Given the description of an element on the screen output the (x, y) to click on. 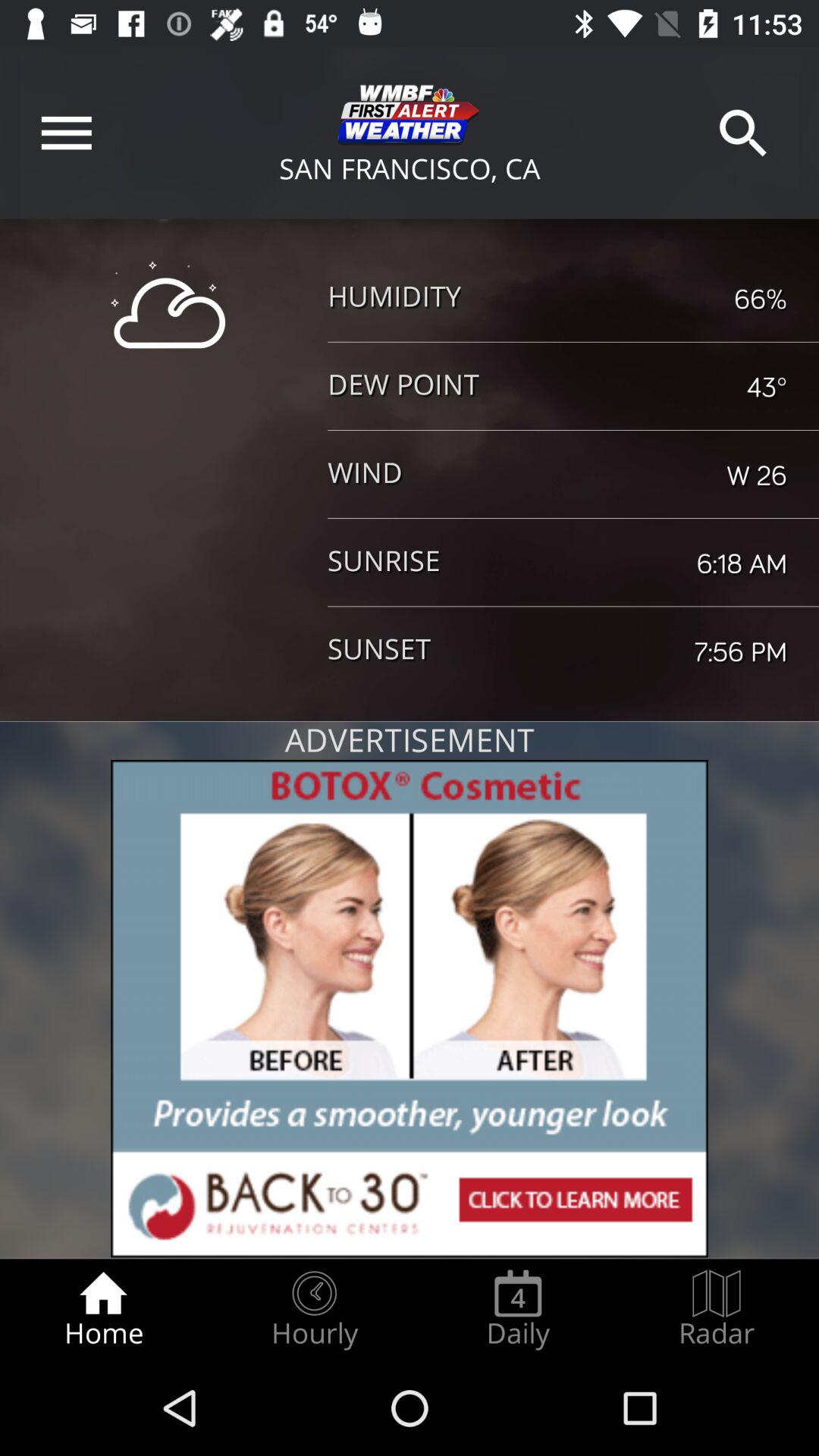
jump until the home radio button (103, 1309)
